Given the description of an element on the screen output the (x, y) to click on. 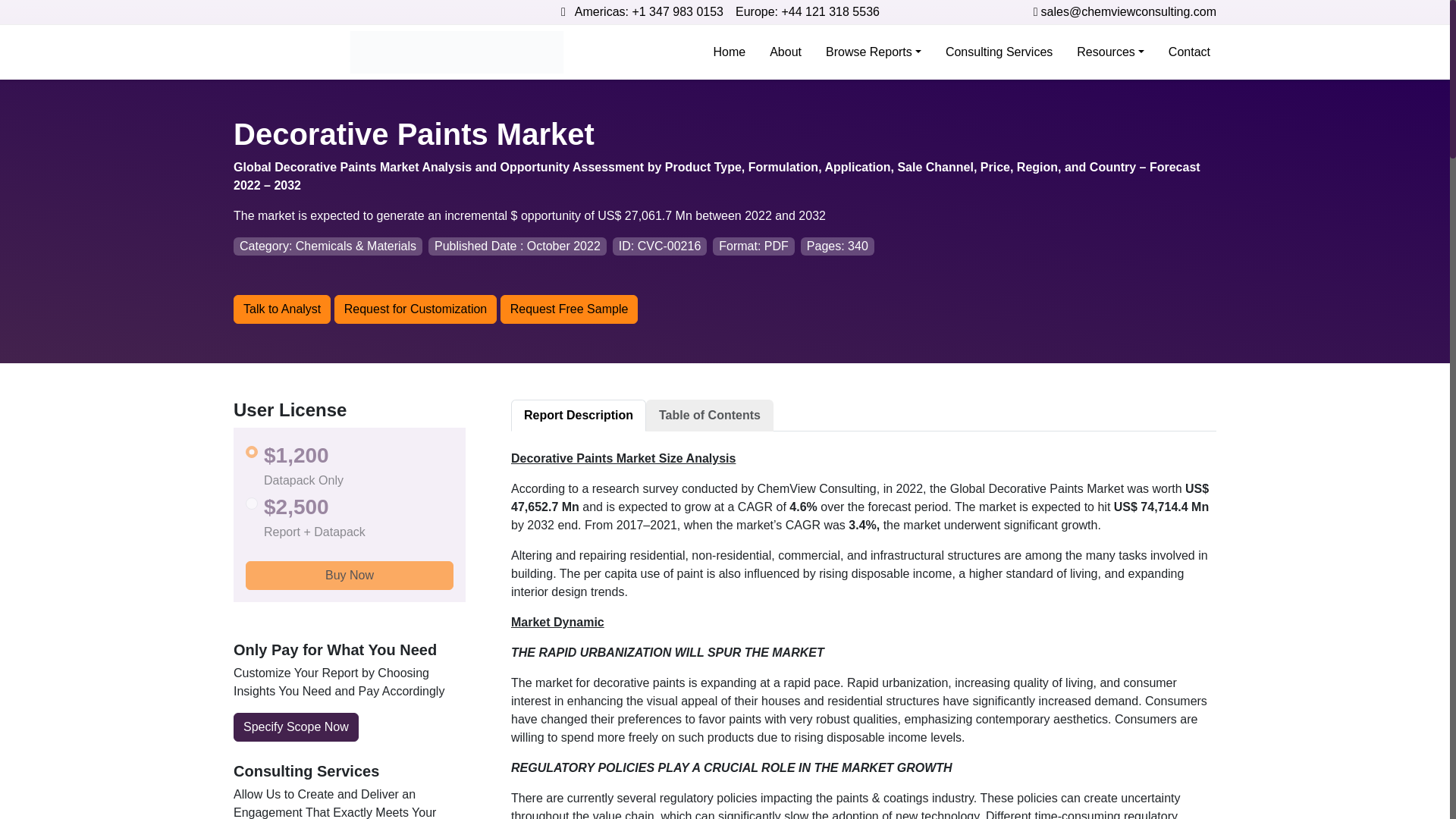
1200.00 (251, 451)
Report Description (578, 415)
Buy Now (349, 575)
Specify Scope Now (295, 727)
Home (728, 51)
Request for Customization (415, 308)
2500.00 (251, 503)
Browse Reports (873, 51)
Talk to Analyst (281, 308)
Consulting Services (998, 51)
